Given the description of an element on the screen output the (x, y) to click on. 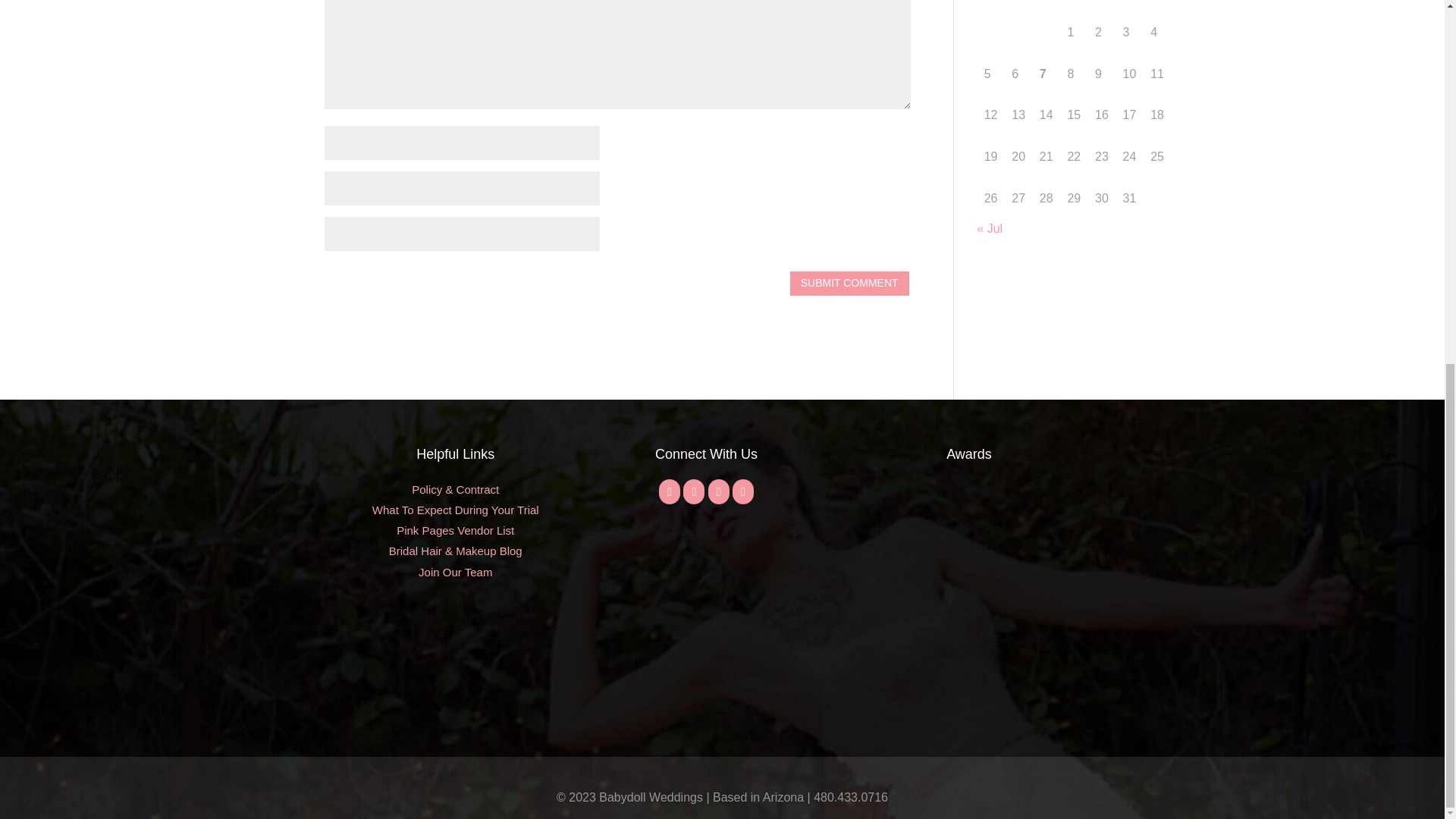
Submit Comment (850, 283)
Wednesday (1045, 6)
Friday (1101, 6)
Monday (990, 6)
Sunday (1157, 6)
Thursday (1073, 6)
Tuesday (1018, 6)
Saturday (1128, 6)
